Given the description of an element on the screen output the (x, y) to click on. 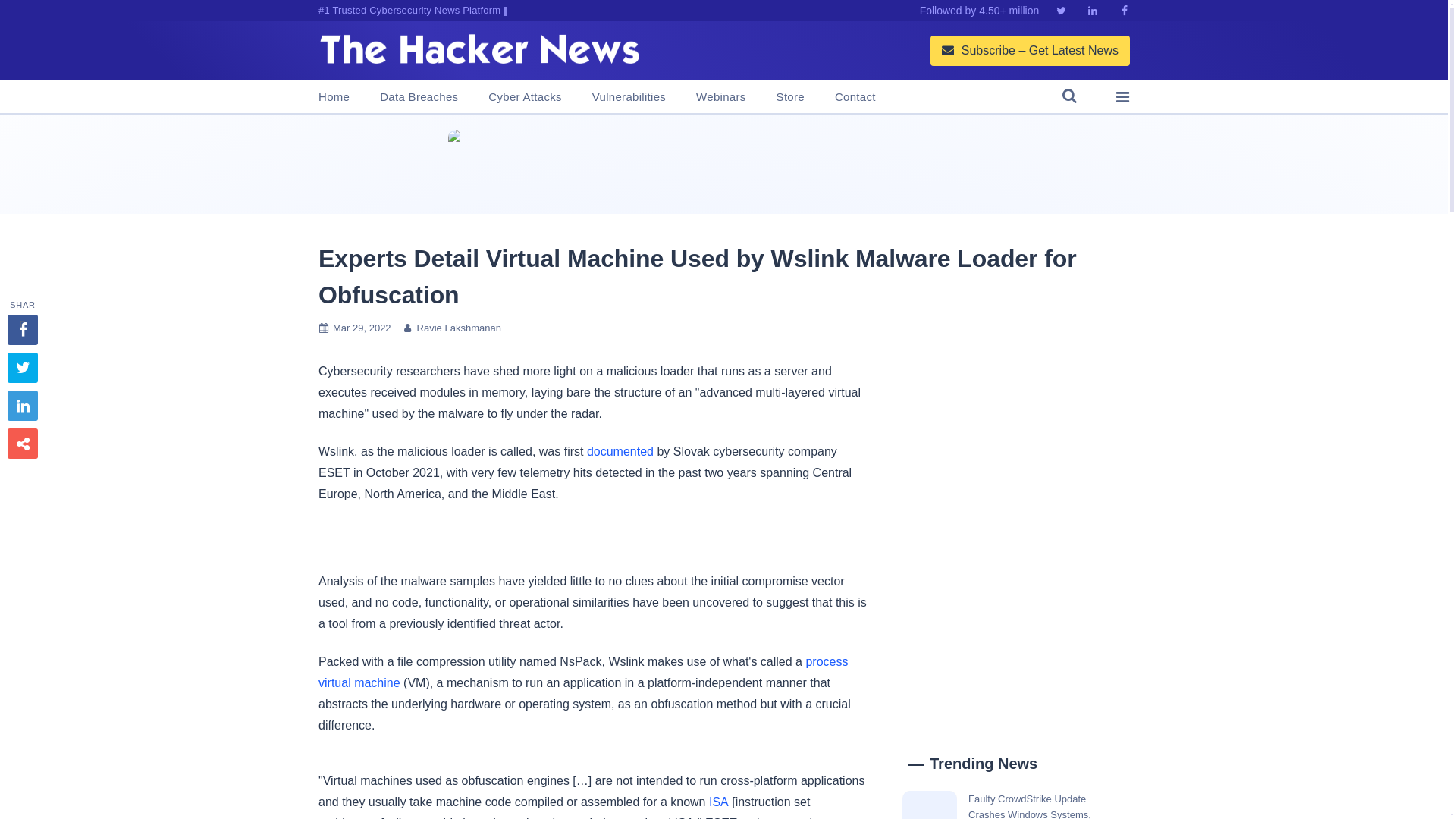
Insider Risk Management (723, 164)
Data Breaches (419, 96)
Vulnerabilities (628, 96)
Home (333, 96)
process virtual machine (582, 672)
Cyber Attacks (523, 96)
Webinars (720, 96)
Contact (855, 96)
documented (619, 451)
